Given the description of an element on the screen output the (x, y) to click on. 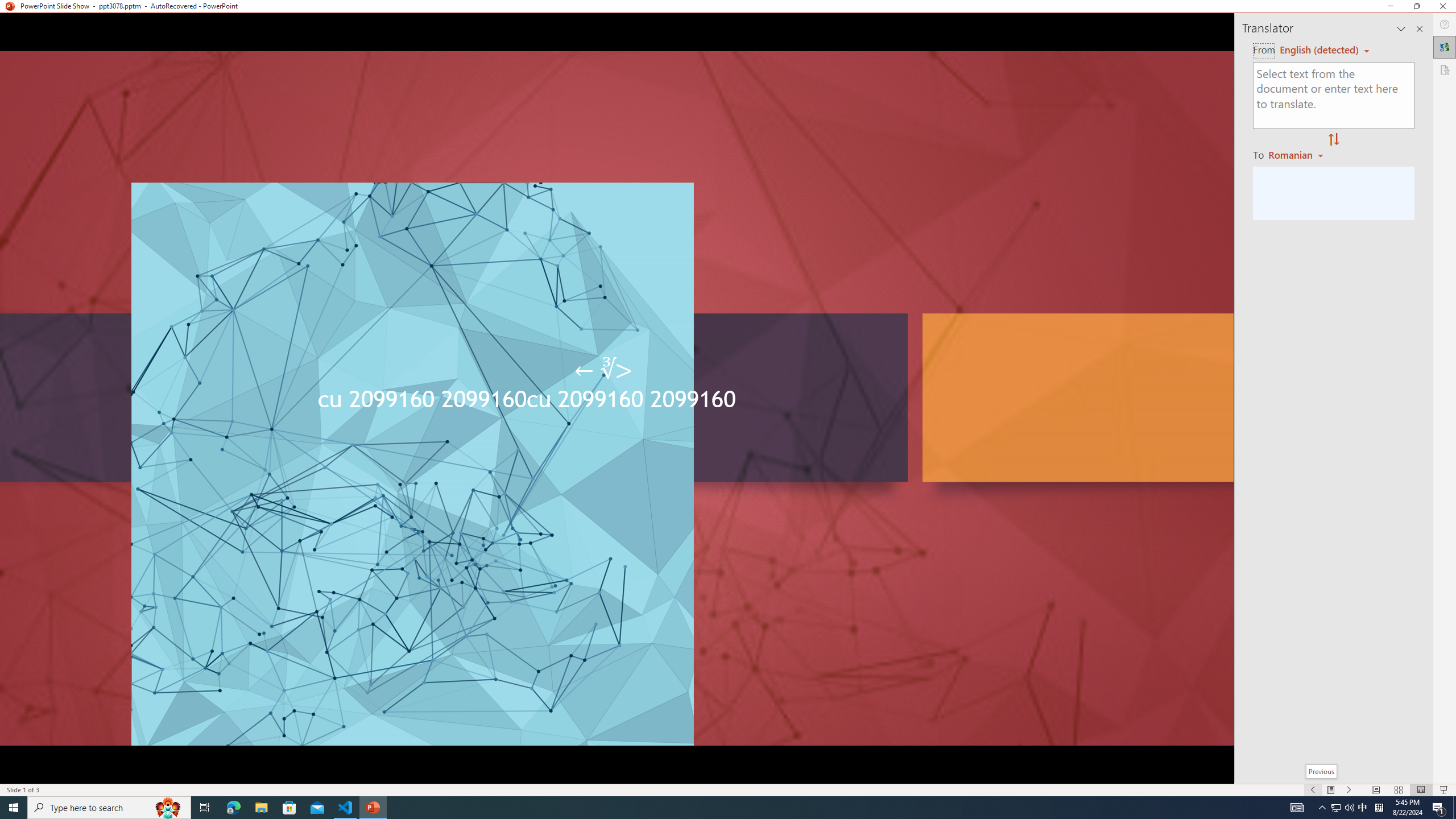
Task Pane Options (1400, 29)
Translator (1444, 47)
Accessibility (1444, 69)
Help (1444, 24)
Close pane (1419, 29)
Swap "from" and "to" languages. (1333, 140)
Class: MsoCommandBar (728, 789)
